Given the description of an element on the screen output the (x, y) to click on. 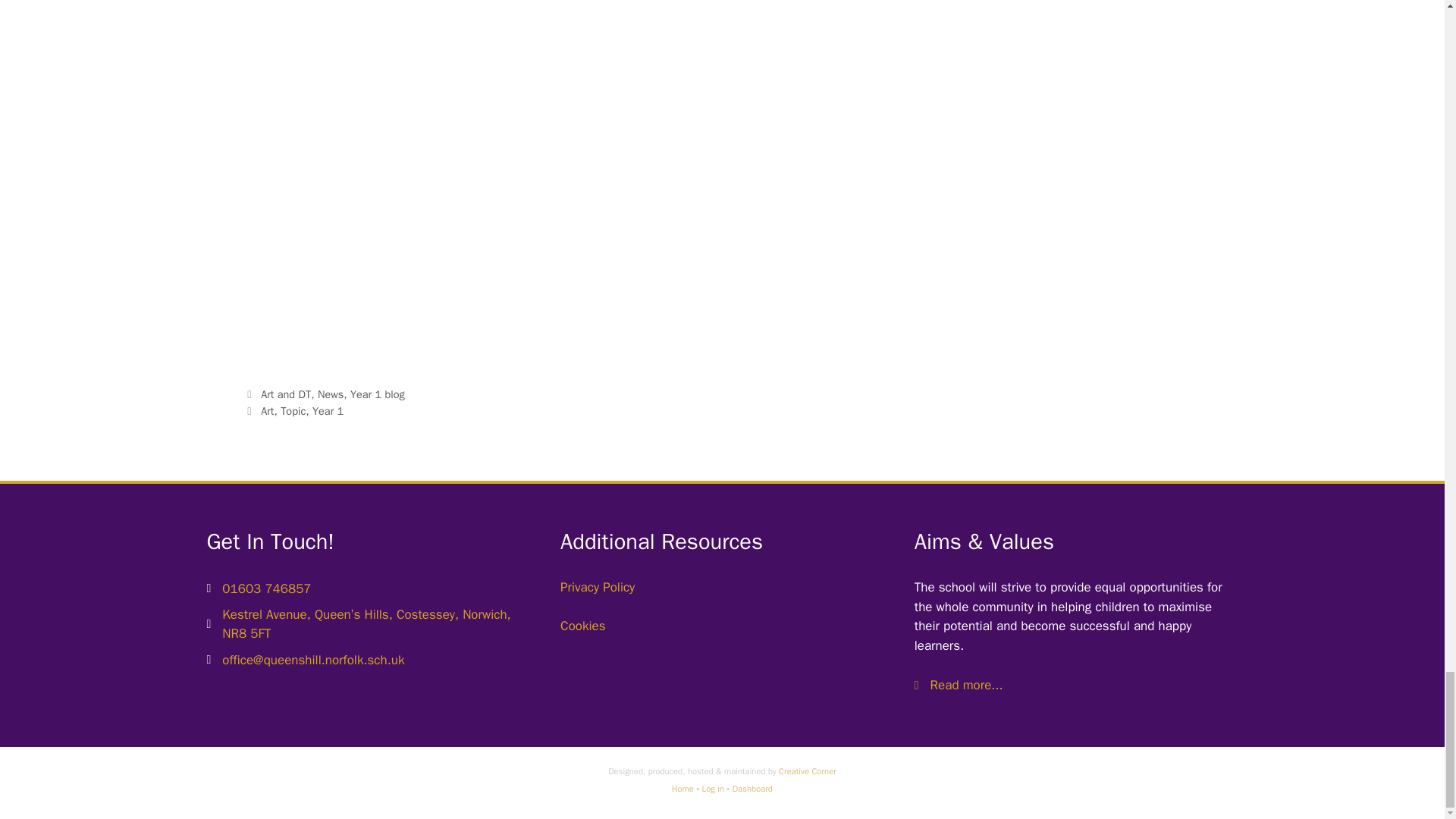
Login (712, 787)
Back to Home Page (682, 787)
Click to visit the Creative Corner website (806, 770)
Wordpress Dashboard (752, 787)
